Given the description of an element on the screen output the (x, y) to click on. 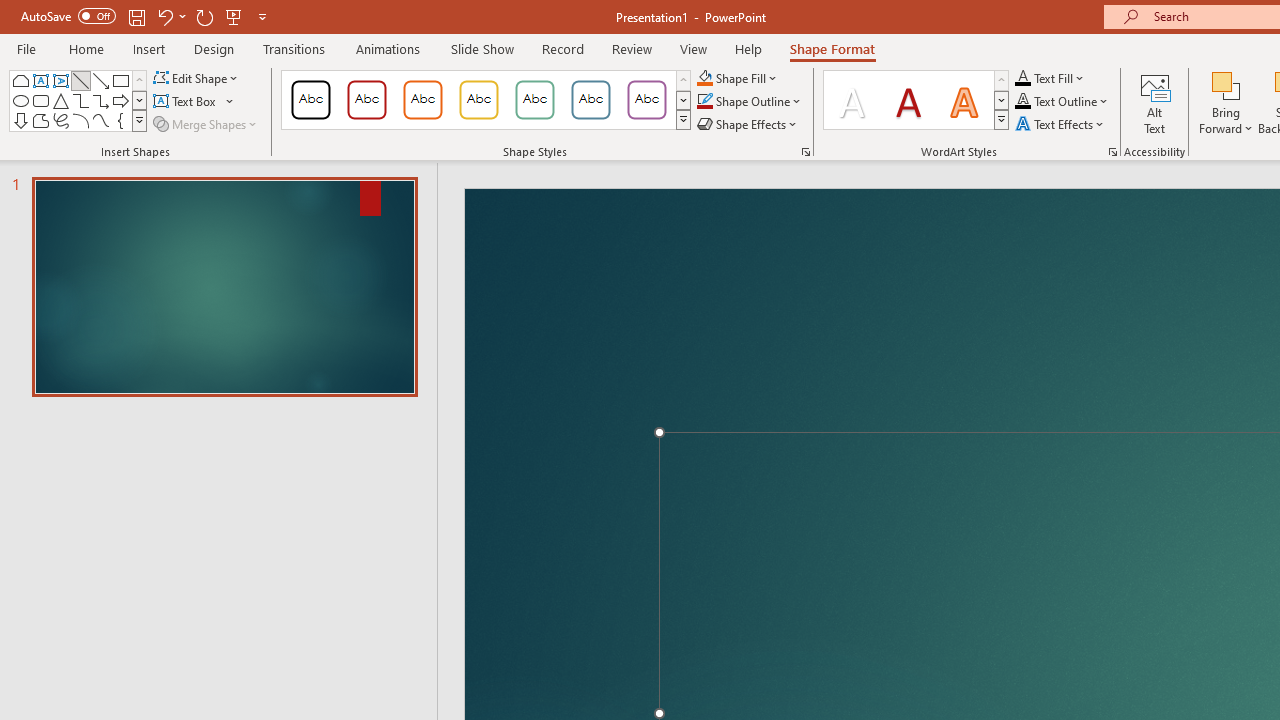
Line Arrow (100, 80)
Format Object... (805, 151)
Text Fill (1050, 78)
Rectangle: Top Corners Snipped (20, 80)
